Given the description of an element on the screen output the (x, y) to click on. 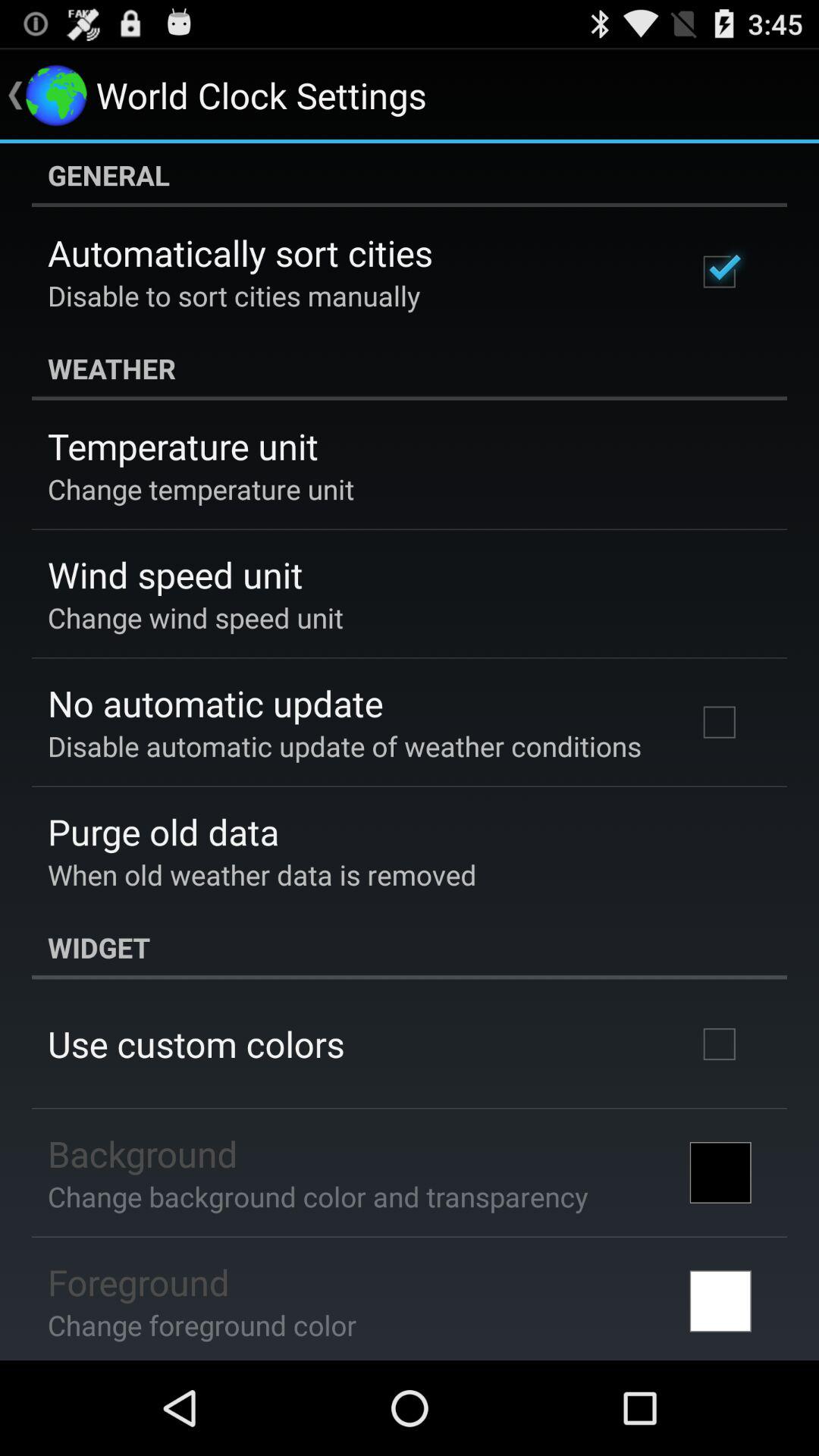
click app above widget app (261, 874)
